Given the description of an element on the screen output the (x, y) to click on. 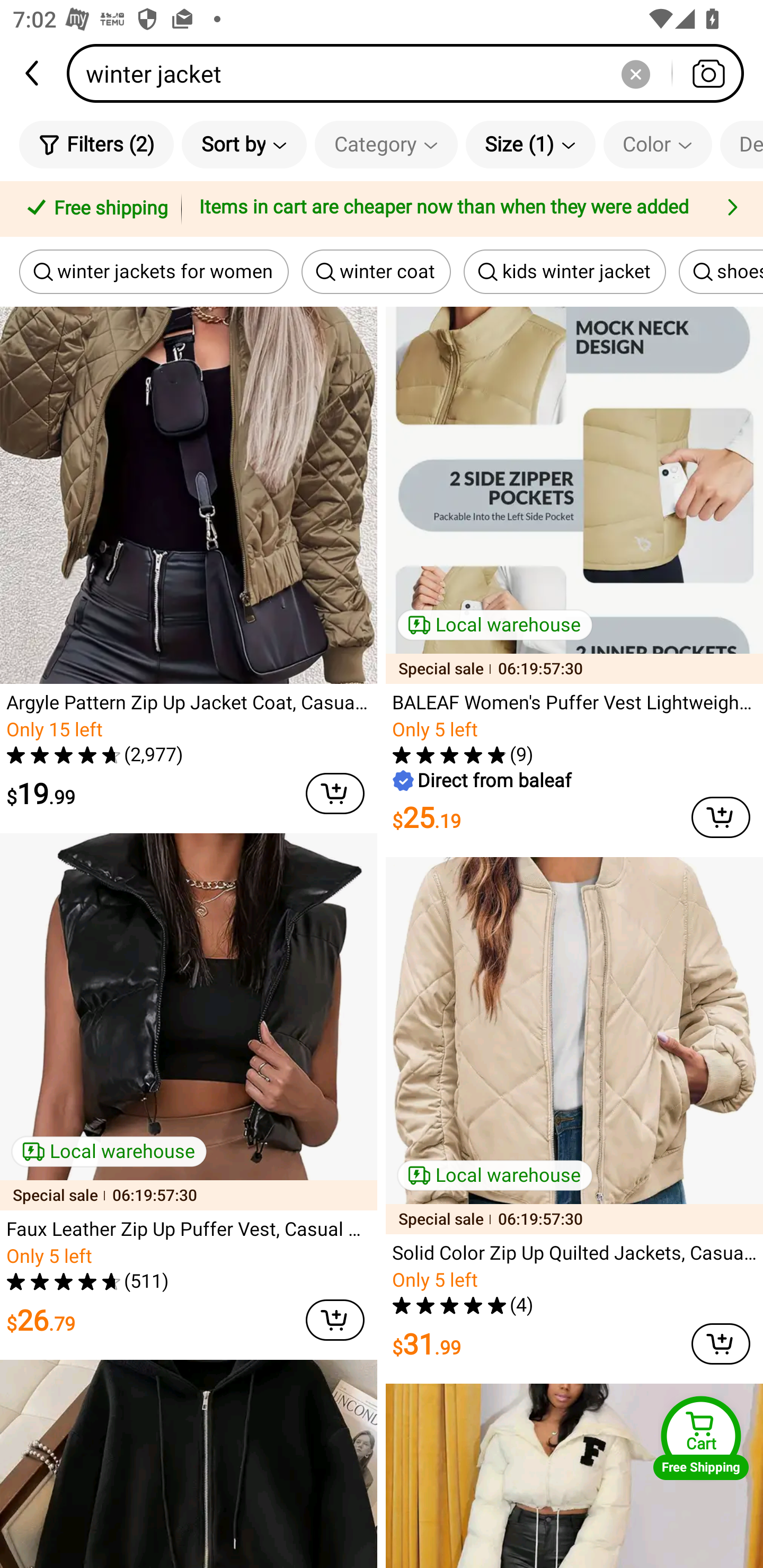
back (33, 72)
winter jacket (411, 73)
Delete search history (635, 73)
Search by photo (708, 73)
Filters (2) (96, 143)
Sort by (243, 143)
Category (385, 143)
Size (1) (530, 143)
Color (657, 143)
 Free shipping (93, 208)
winter jackets for women (153, 271)
winter coat (375, 271)
kids winter jacket (564, 271)
shoes (721, 271)
cart delete (334, 793)
cart delete (720, 816)
cart delete (334, 1319)
cart delete (720, 1343)
Cart Free Shipping Cart (701, 1437)
